Given the description of an element on the screen output the (x, y) to click on. 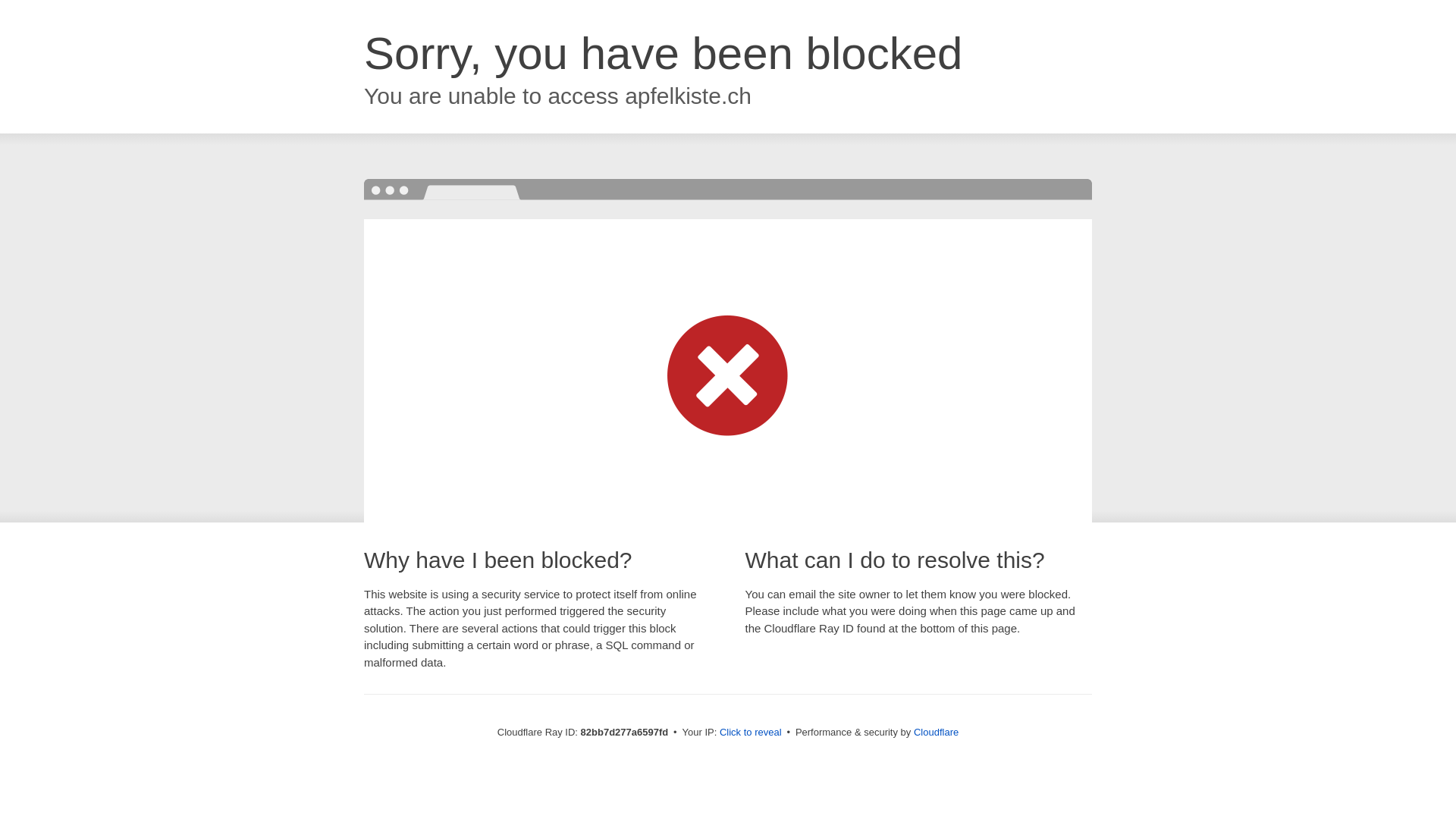
Click to reveal Element type: text (750, 732)
Cloudflare Element type: text (935, 731)
